Given the description of an element on the screen output the (x, y) to click on. 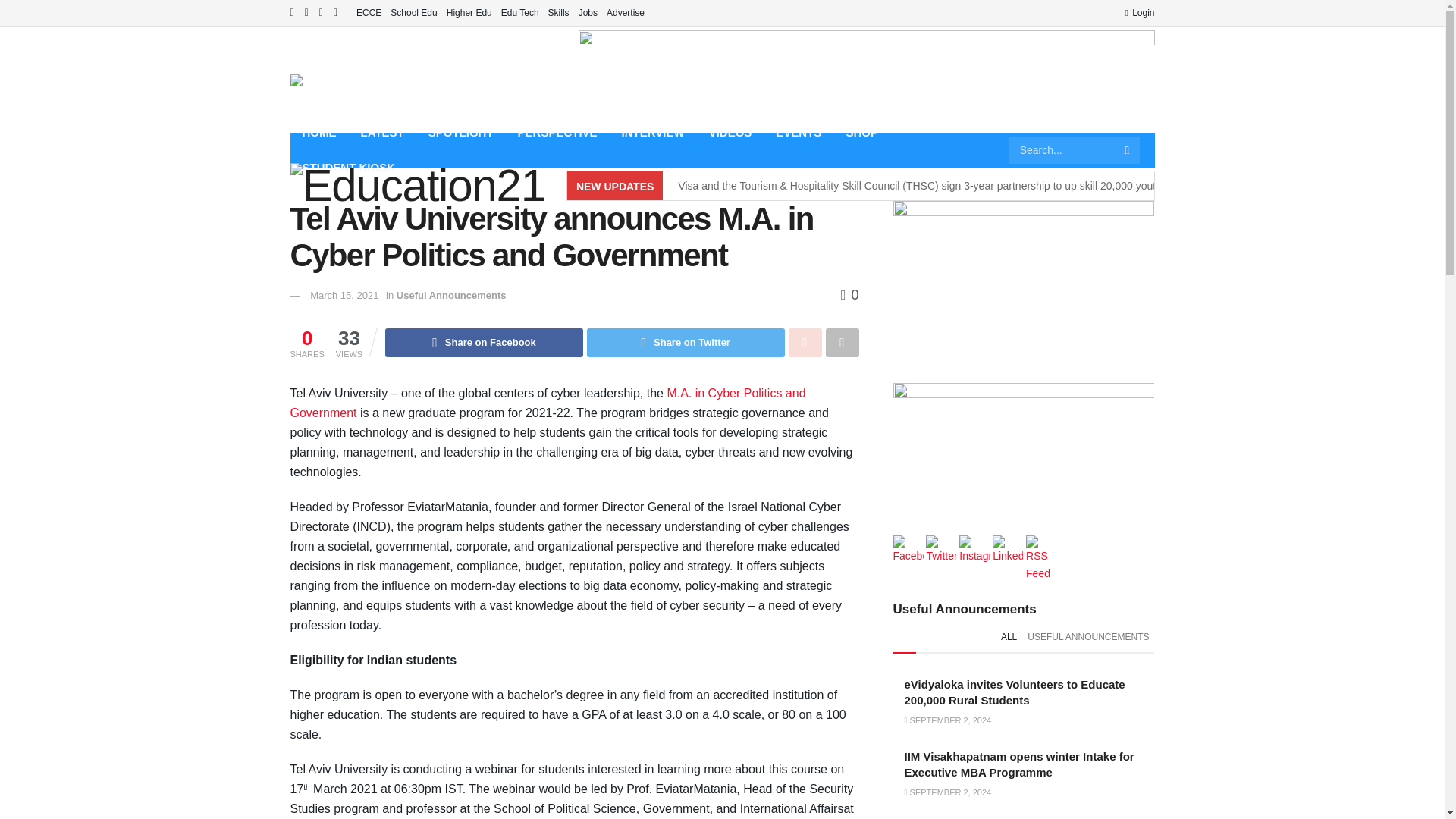
Login (1139, 12)
SHOP (860, 132)
RSS Feed (1041, 550)
PERSPECTIVE (557, 132)
INTERVIEW (653, 132)
HOME (318, 132)
EVENTS (797, 132)
STUDENT KIOSK (348, 167)
Advertise (626, 12)
Edu Tech (519, 12)
